Given the description of an element on the screen output the (x, y) to click on. 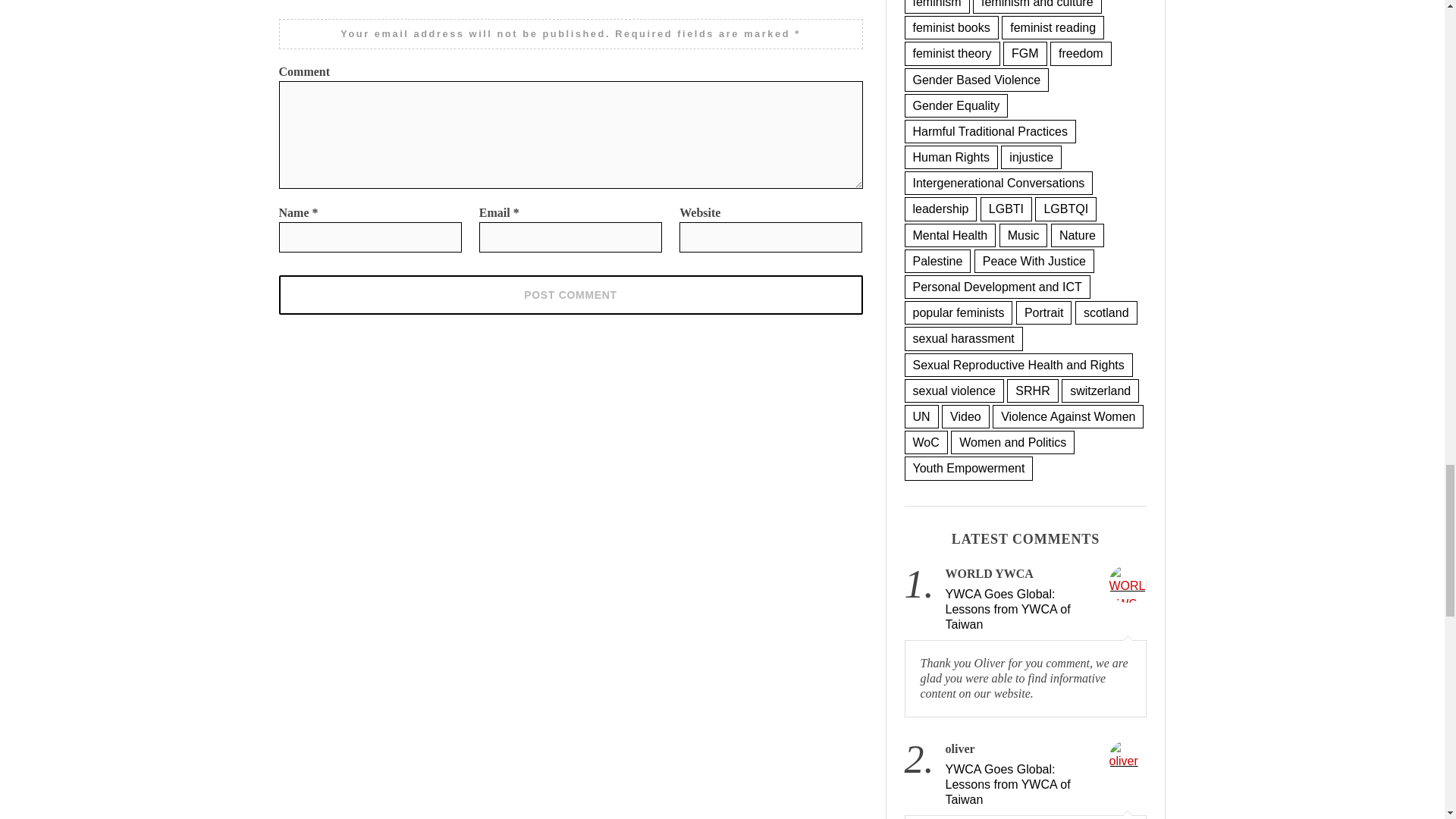
Post Comment (571, 294)
